Given the description of an element on the screen output the (x, y) to click on. 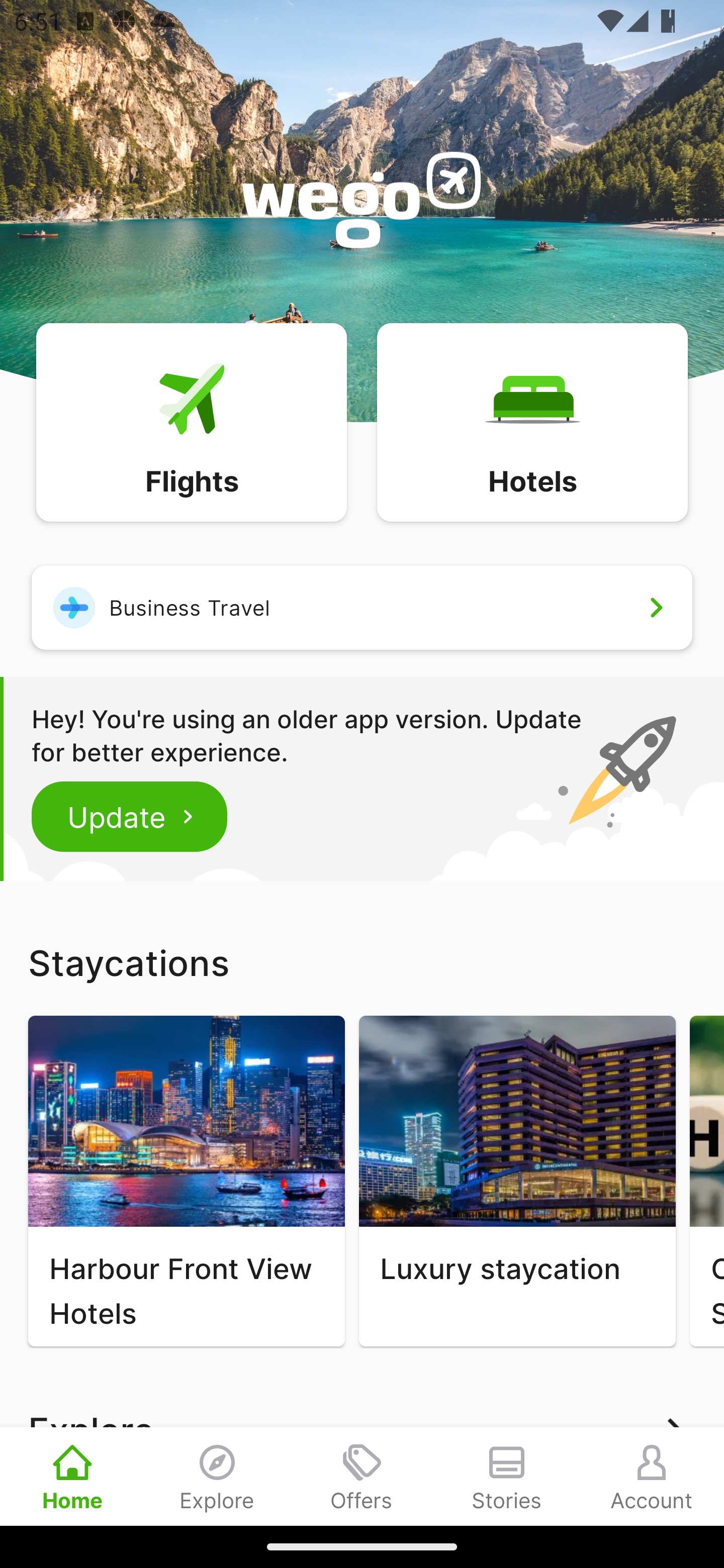
Flights (191, 420)
Hotels (532, 420)
Business Travel (361, 607)
Update (129, 815)
Staycations (362, 962)
Harbour Front View Hotels (186, 1181)
Luxury staycation (517, 1181)
Explore (216, 1475)
Offers (361, 1475)
Stories (506, 1475)
Account (651, 1475)
